Given the description of an element on the screen output the (x, y) to click on. 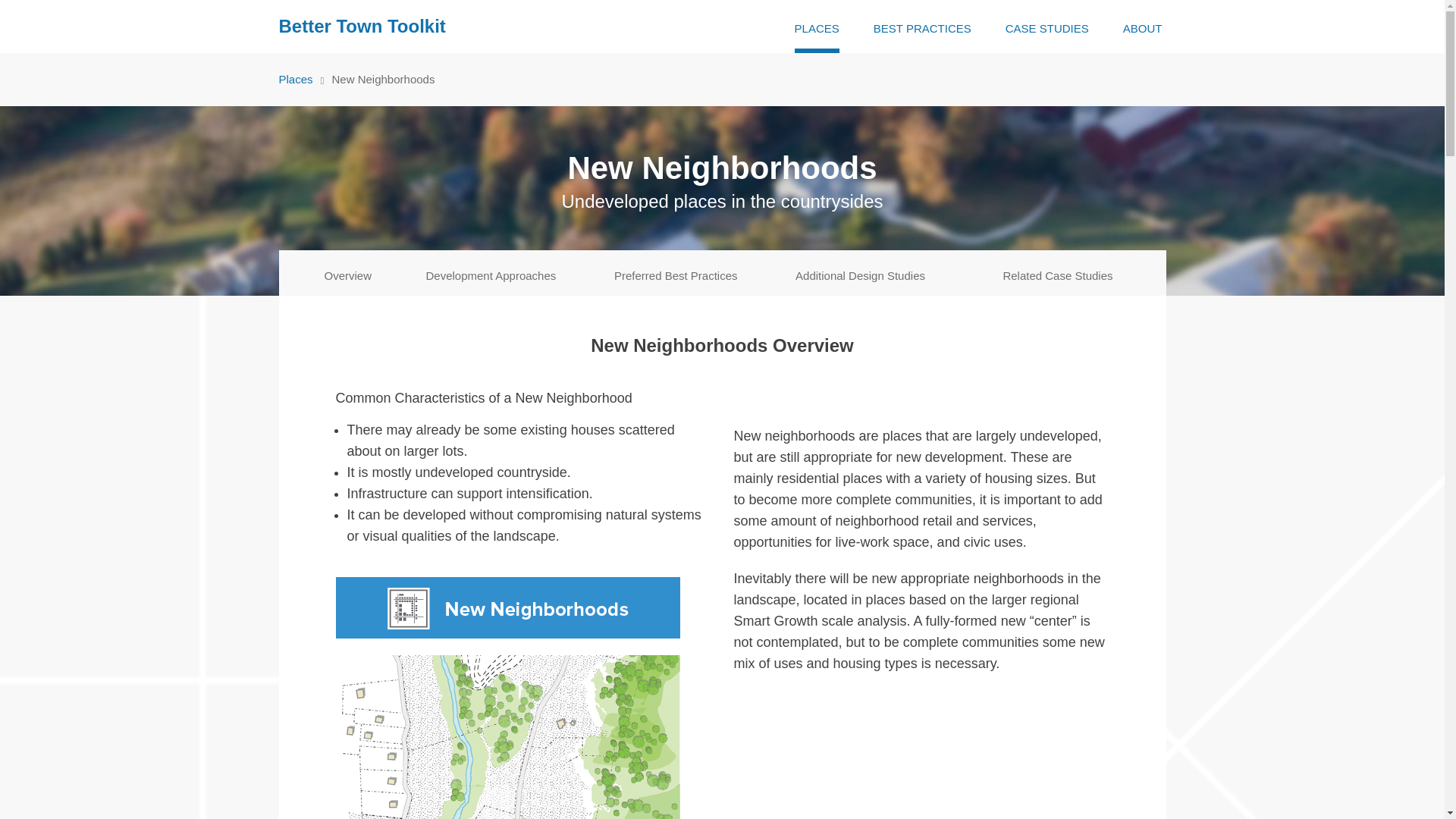
Preferred Best Practices (676, 272)
Related Case Studies (1057, 272)
Additional Design Studies (859, 272)
Development Approaches (491, 272)
Source: RPA (506, 698)
BEST PRACTICES (922, 26)
CASE STUDIES (1047, 26)
Places (296, 78)
Page 65 (921, 549)
Overview (348, 272)
